Given the description of an element on the screen output the (x, y) to click on. 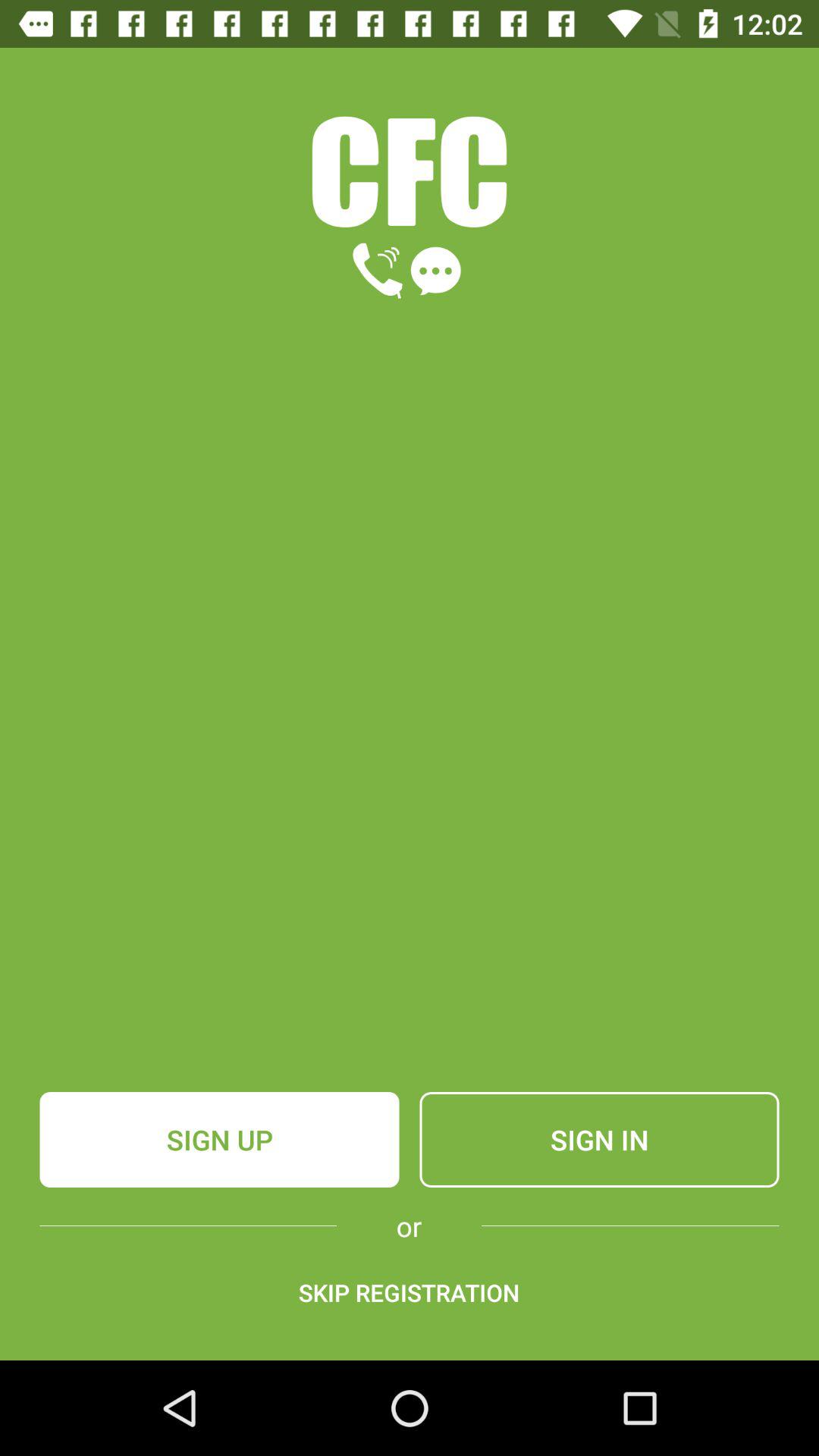
select the skip registration (408, 1292)
